Given the description of an element on the screen output the (x, y) to click on. 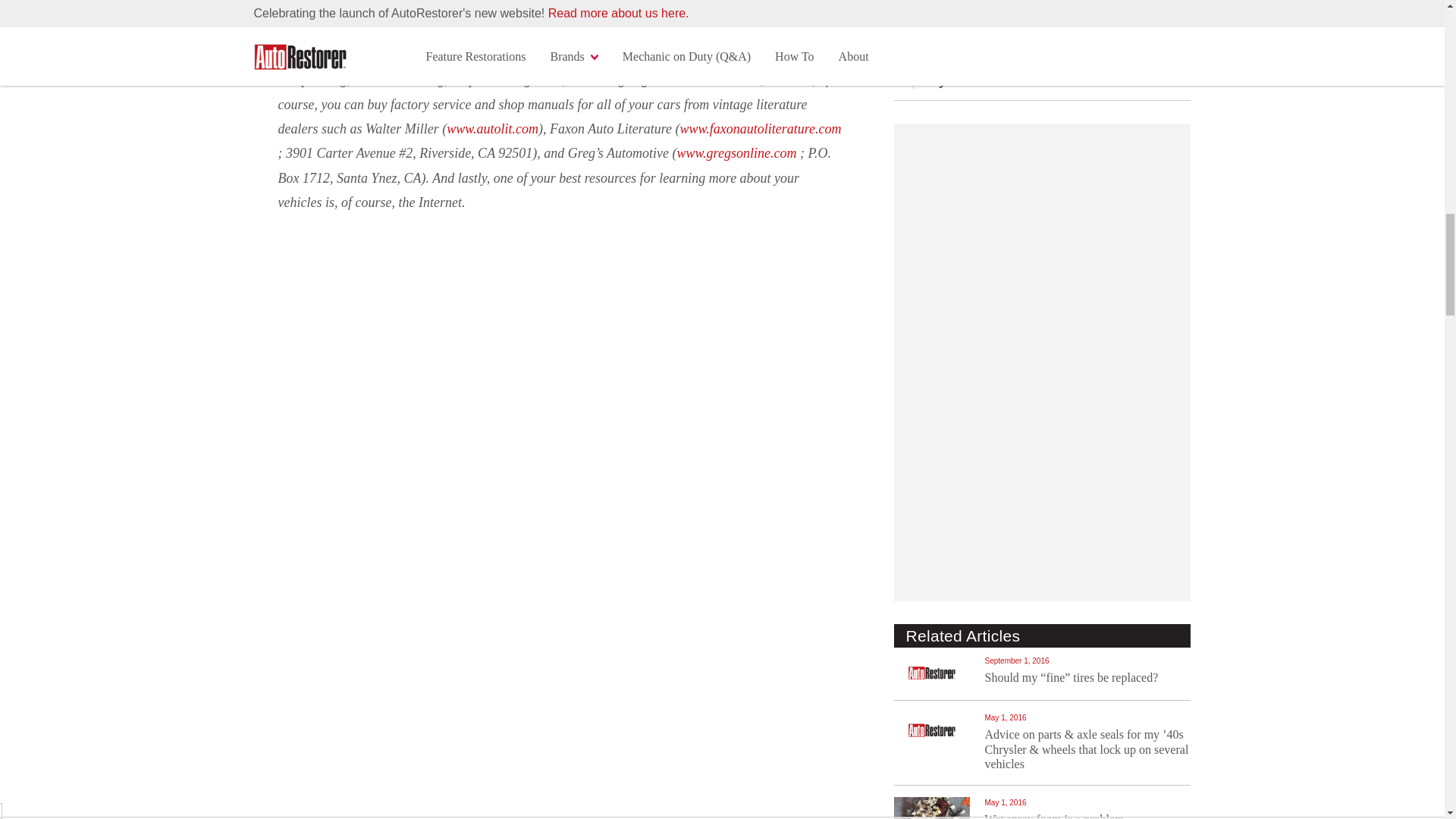
www.autolit.com (492, 128)
www.faxonautoliterature.com (760, 128)
www.gregsonline.com (736, 152)
